Given the description of an element on the screen output the (x, y) to click on. 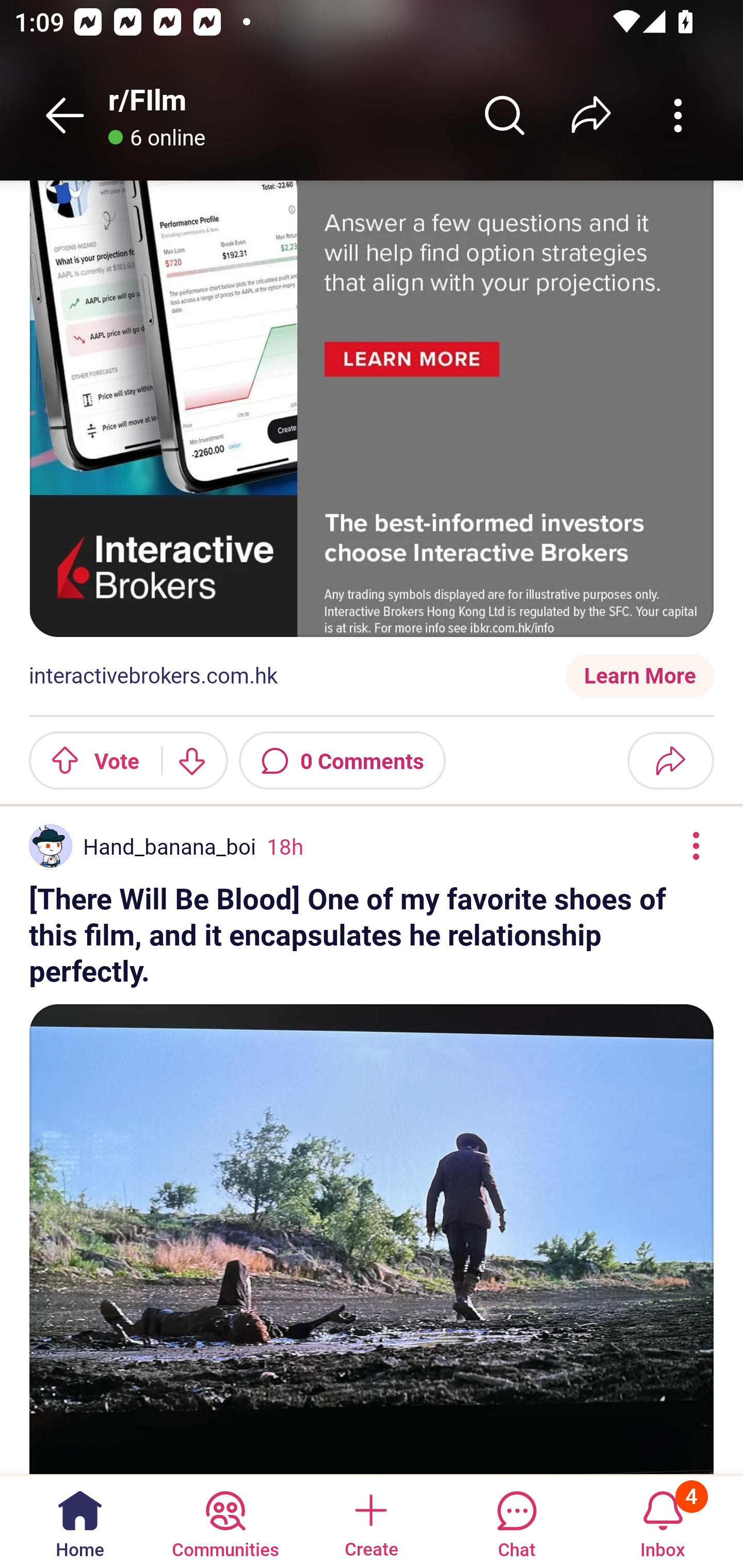
Back (64, 115)
Search r/﻿FIlm (504, 115)
Share r/﻿FIlm (591, 115)
More community actions (677, 115)
Home (80, 1520)
Communities (225, 1520)
Create a post Create (370, 1520)
Chat (516, 1520)
Inbox, has 4 notifications 4 Inbox (662, 1520)
